Given the description of an element on the screen output the (x, y) to click on. 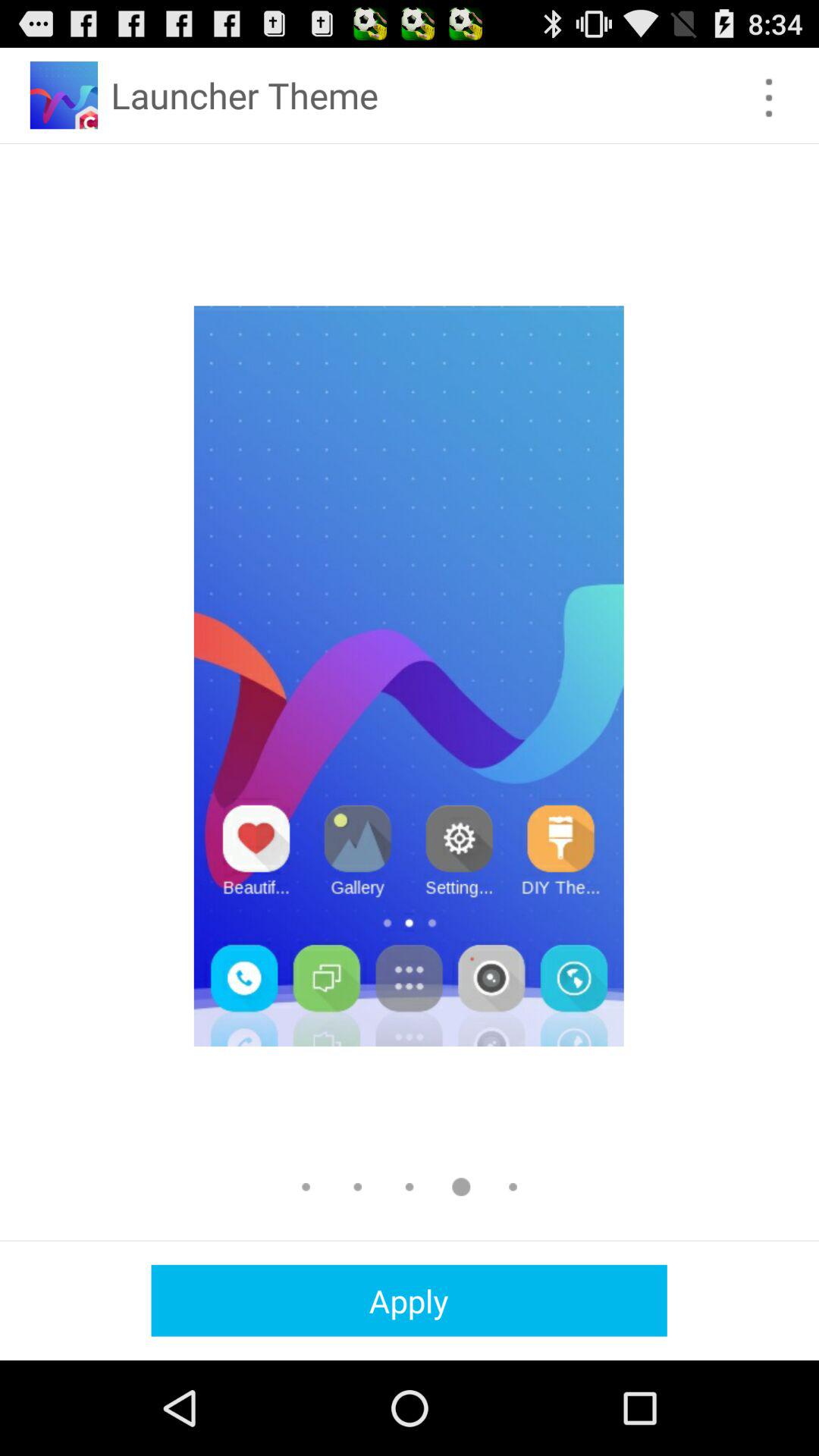
for the menu option (768, 97)
